Given the description of an element on the screen output the (x, y) to click on. 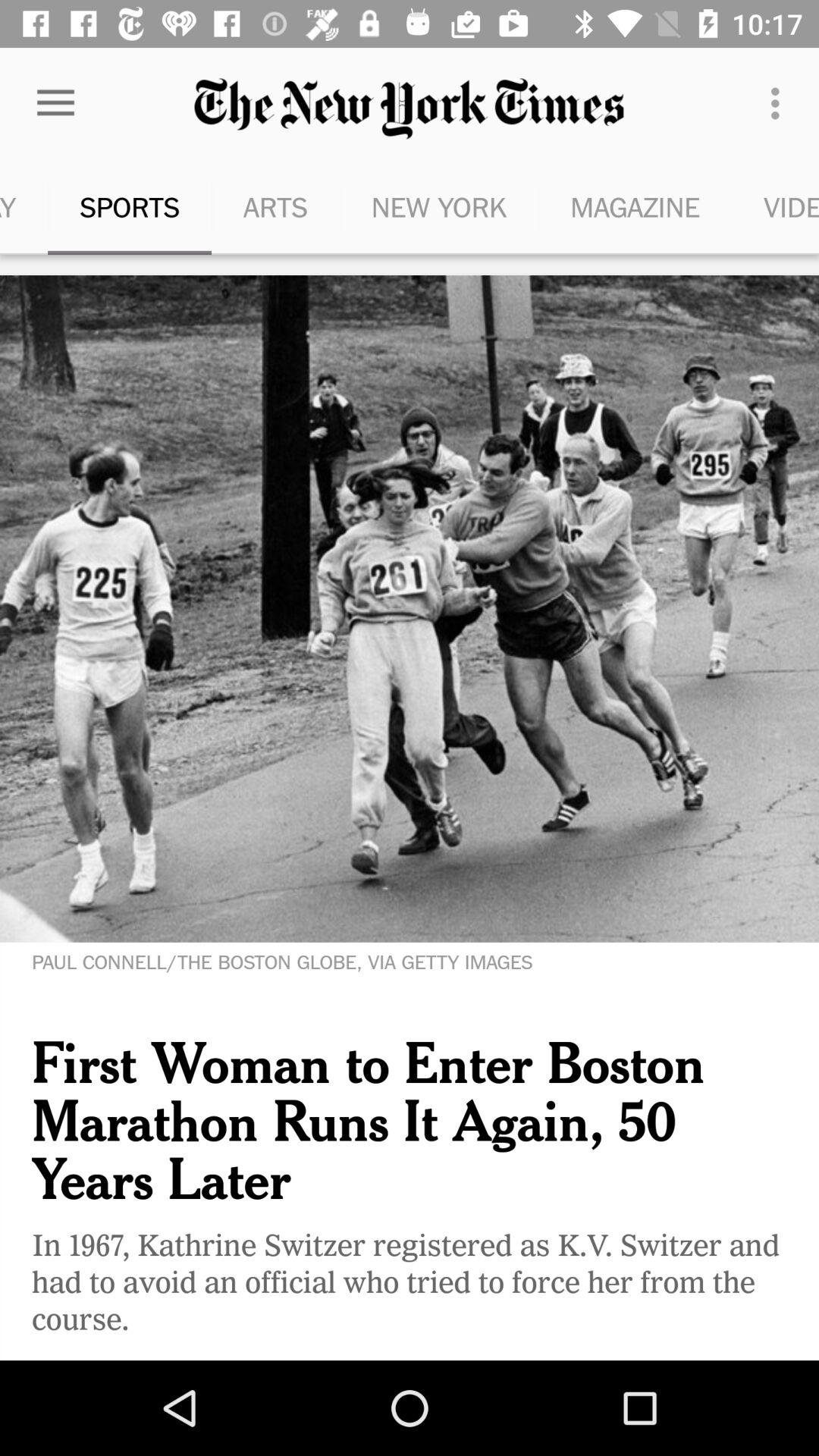
flip to the video (775, 206)
